Given the description of an element on the screen output the (x, y) to click on. 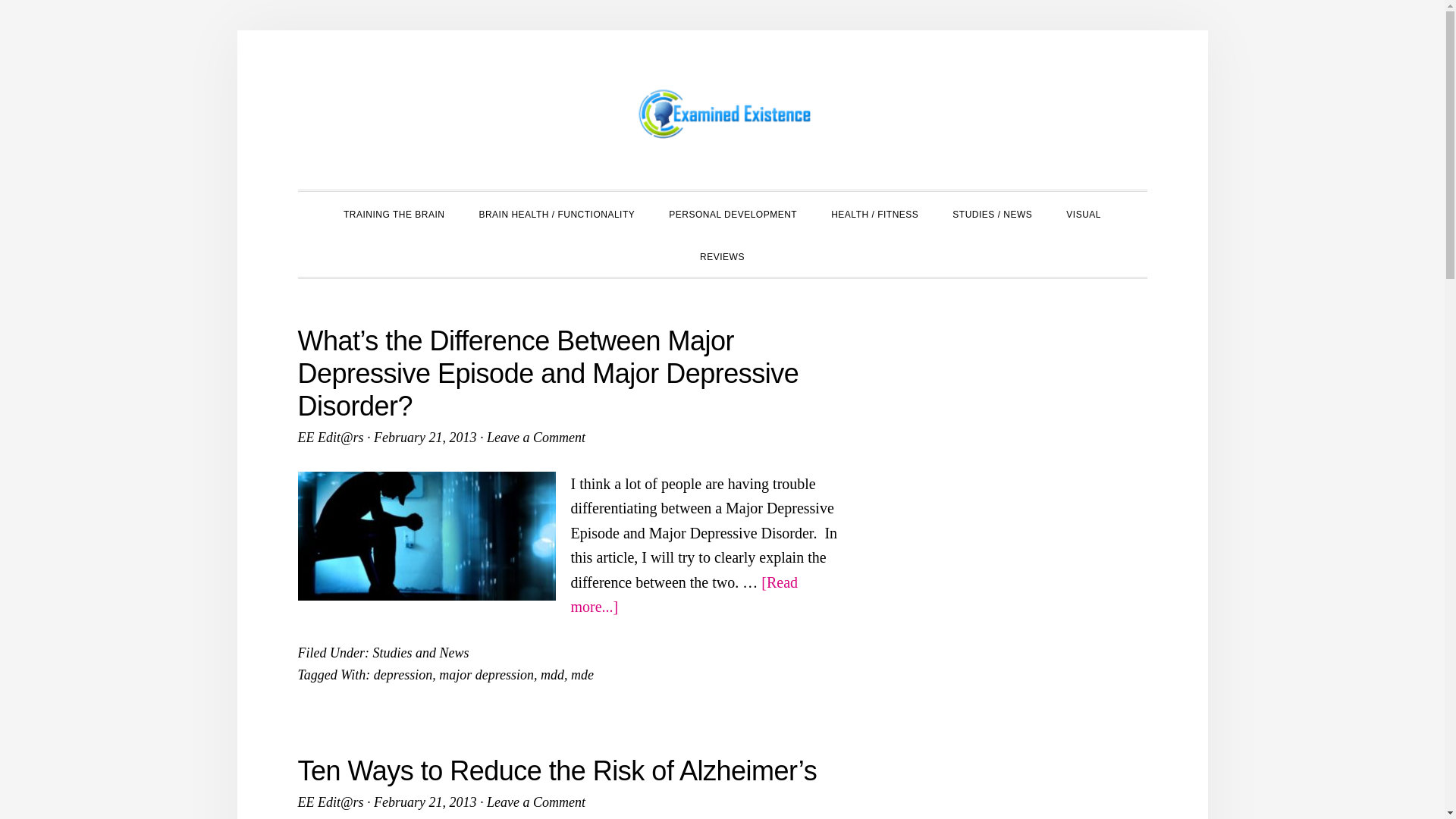
mde (582, 674)
Leave a Comment (535, 801)
major depression (486, 674)
EXAMINED EXISTENCE (721, 113)
PERSONAL DEVELOPMENT (732, 212)
REVIEWS (722, 255)
VISUAL (1083, 212)
Studies and News (420, 652)
TRAINING THE BRAIN (394, 212)
depression (403, 674)
mdd (552, 674)
Leave a Comment (535, 437)
